Given the description of an element on the screen output the (x, y) to click on. 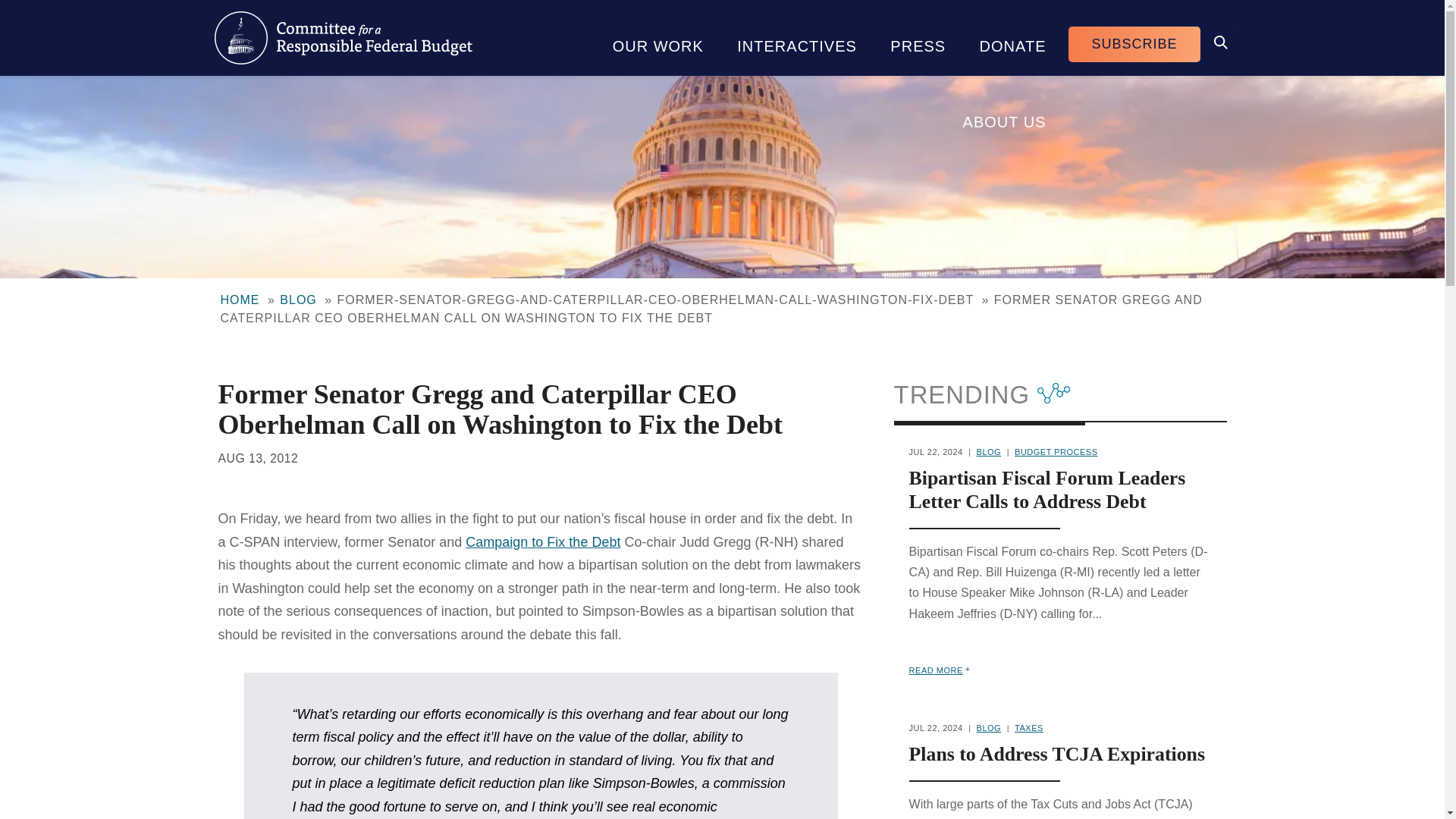
PRESS (917, 38)
ABOUT US (1004, 113)
DONATE (1012, 38)
Committee for a Responsible Federal Budget (342, 37)
INTERACTIVES (797, 38)
OUR WORK (657, 38)
